Given the description of an element on the screen output the (x, y) to click on. 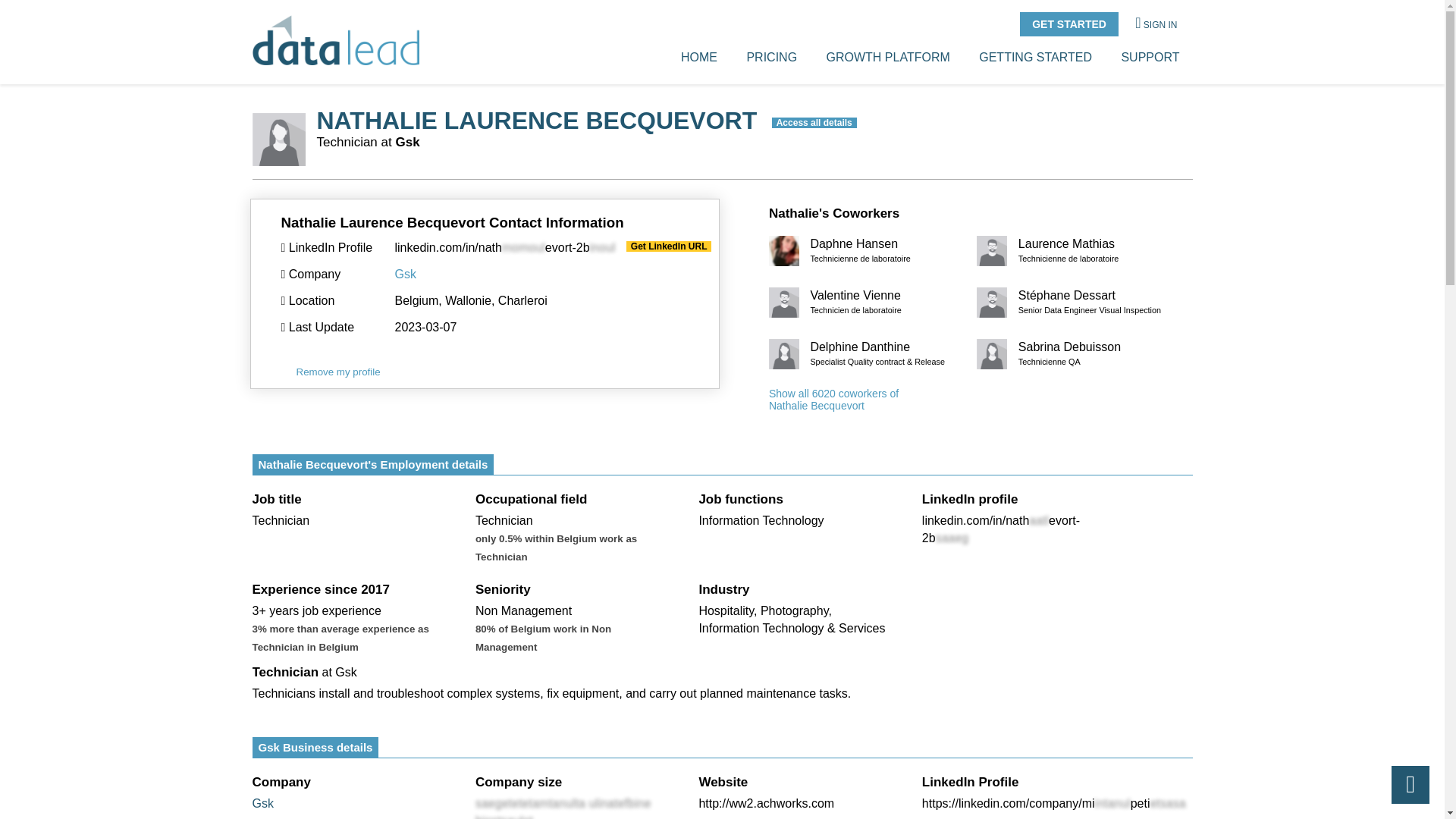
Remove my profile (337, 371)
Gsk (262, 802)
GROWTH PLATFORM (888, 57)
SIGN IN (1155, 25)
SUPPORT (1069, 353)
GET STARTED (1149, 57)
PRICING (1069, 24)
HOME (770, 57)
Gsk (699, 57)
